Given the description of an element on the screen output the (x, y) to click on. 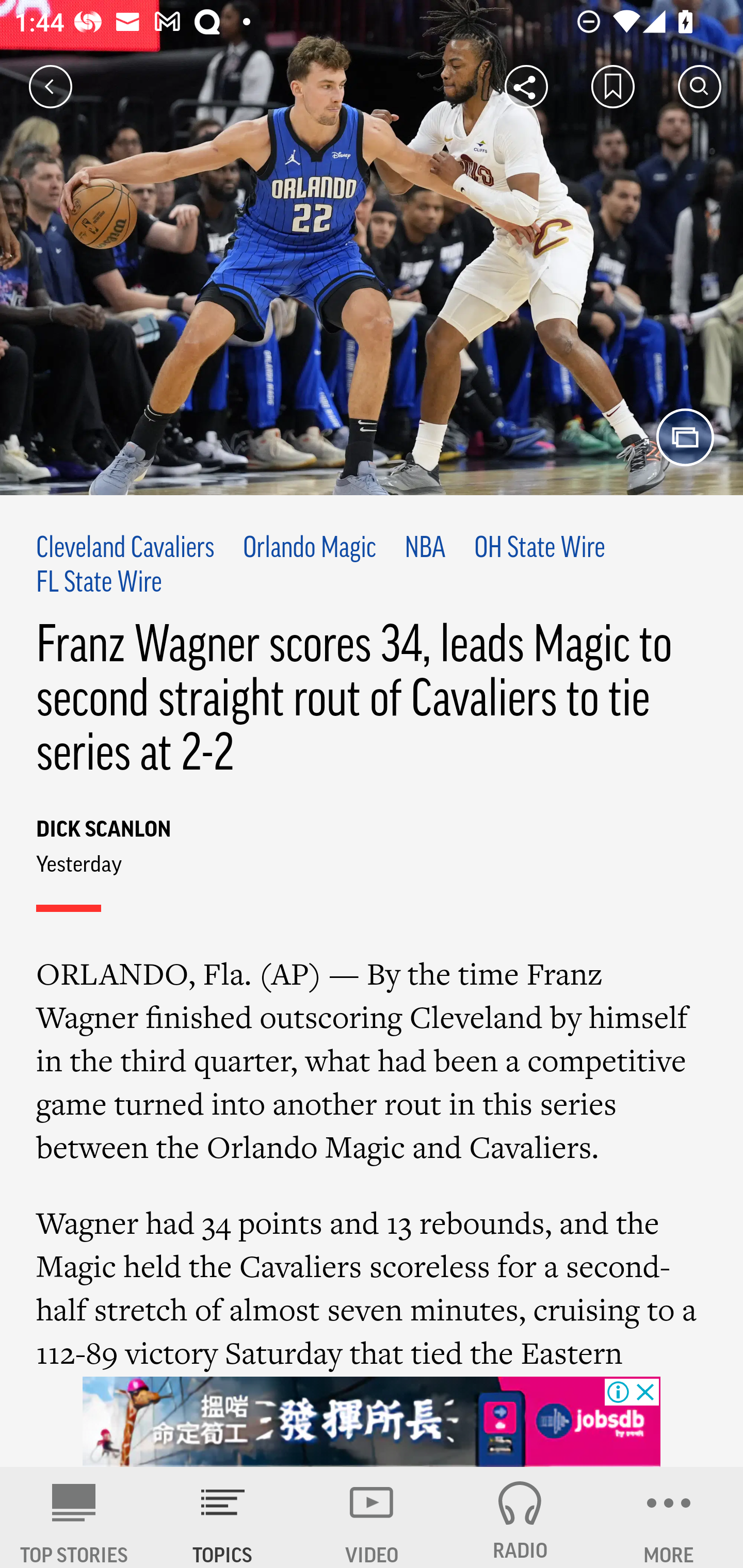
Cleveland Cavaliers (125, 549)
Orlando Magic (309, 549)
NBA (424, 549)
OH State Wire (540, 549)
FL State Wire (99, 584)
hk.jobsdb (371, 1421)
AP News TOP STORIES (74, 1517)
TOPICS (222, 1517)
VIDEO (371, 1517)
RADIO (519, 1517)
MORE (668, 1517)
